Given the description of an element on the screen output the (x, y) to click on. 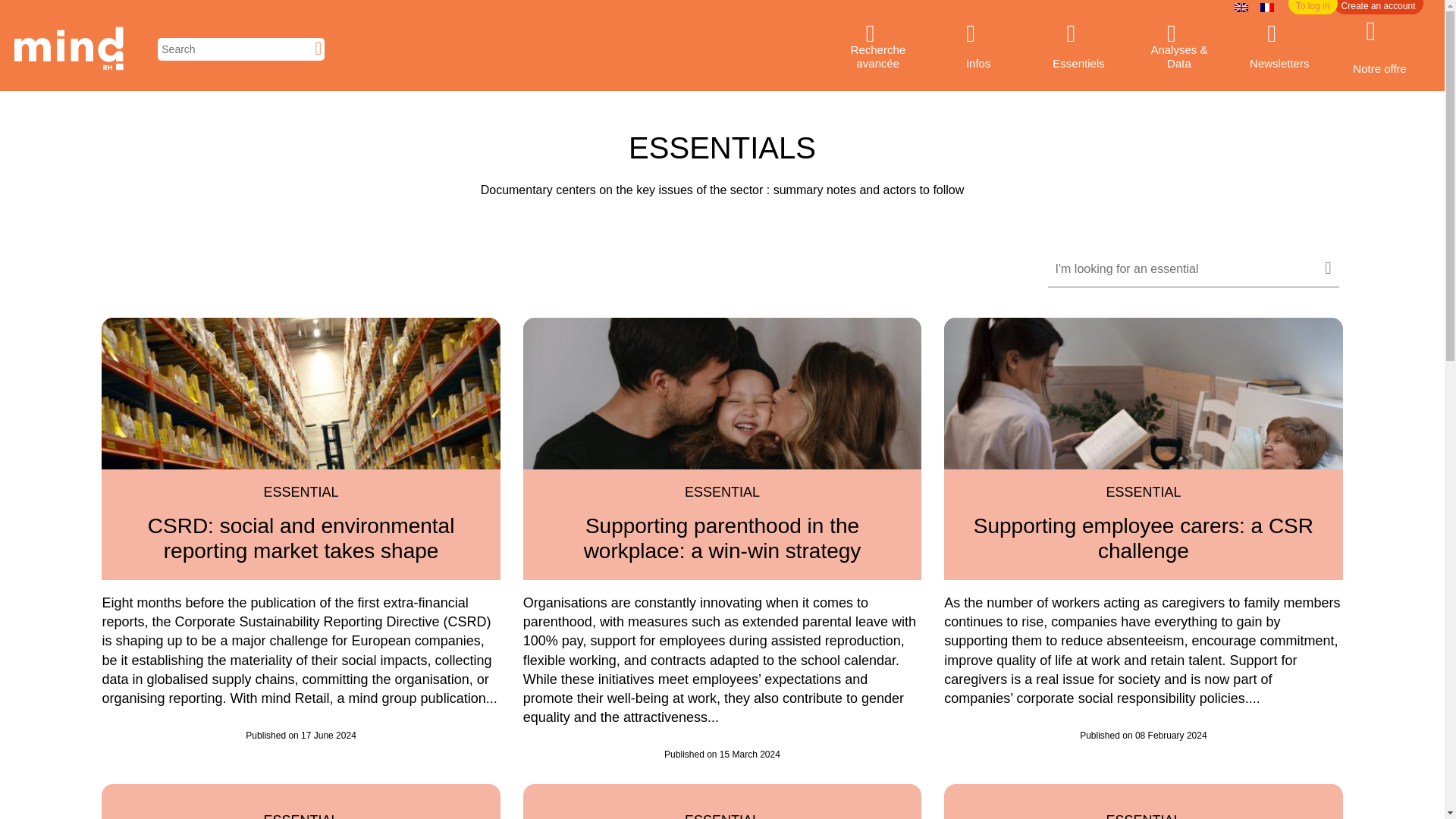
Infos (977, 48)
Create an account (1378, 7)
ESSENTIAL (301, 492)
To log in (1313, 7)
Essentiels (1077, 48)
Se connecter (1313, 7)
Newsletters (1278, 48)
CSRD: social and environmental reporting market takes shape (300, 538)
Notre offre (1379, 48)
